Given the description of an element on the screen output the (x, y) to click on. 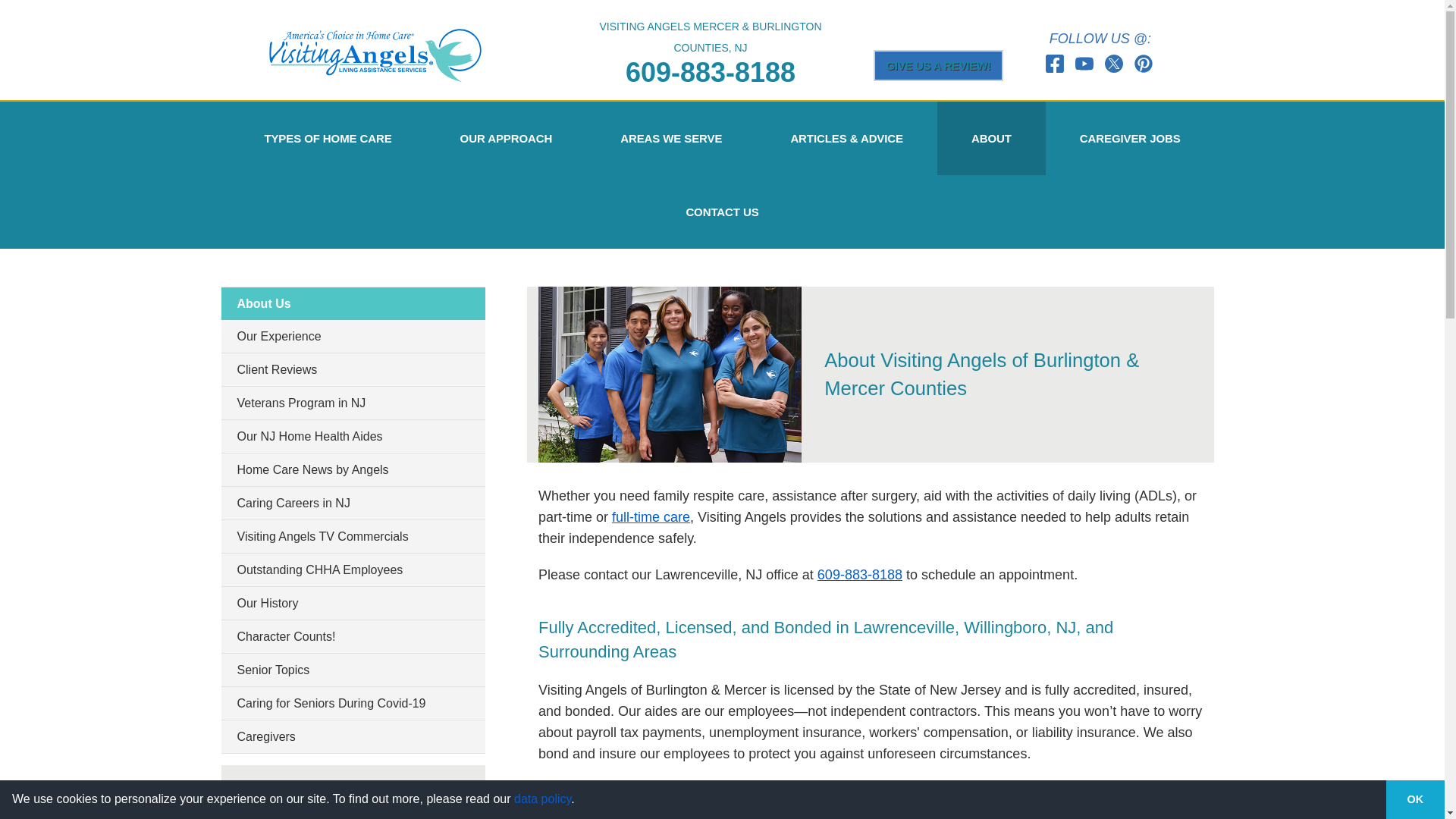
609-883-8188 (710, 71)
GIVE US A REVIEW! (938, 65)
AREAS WE SERVE (670, 138)
TYPES OF HOME CARE (327, 138)
OUR APPROACH (506, 138)
data policy (541, 798)
